Given the description of an element on the screen output the (x, y) to click on. 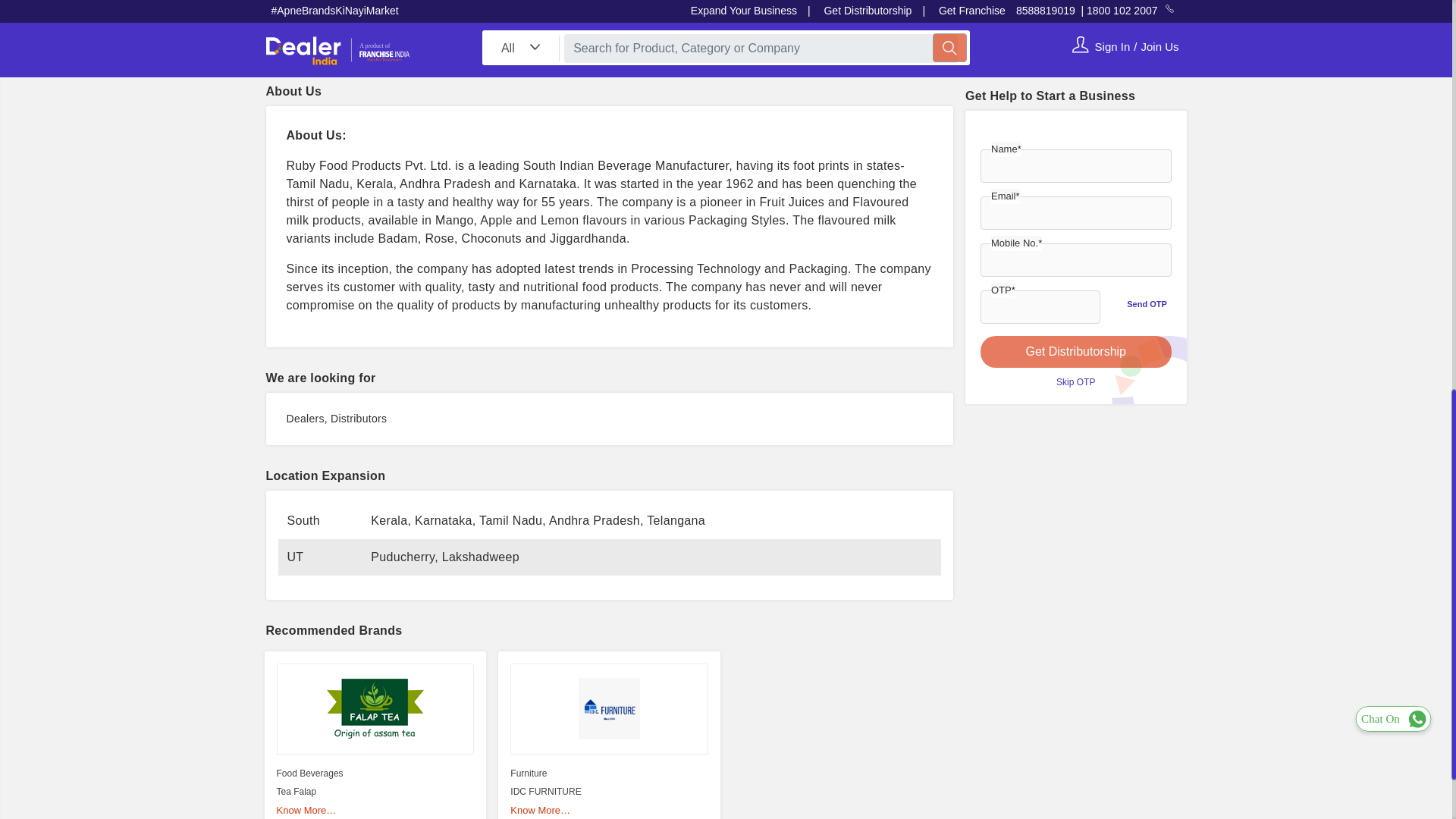
Tea Falap (295, 791)
Food Beverages (309, 773)
Furniture (529, 773)
IDC FURNITURE (545, 791)
Get Distributorship (1075, 278)
